Given the description of an element on the screen output the (x, y) to click on. 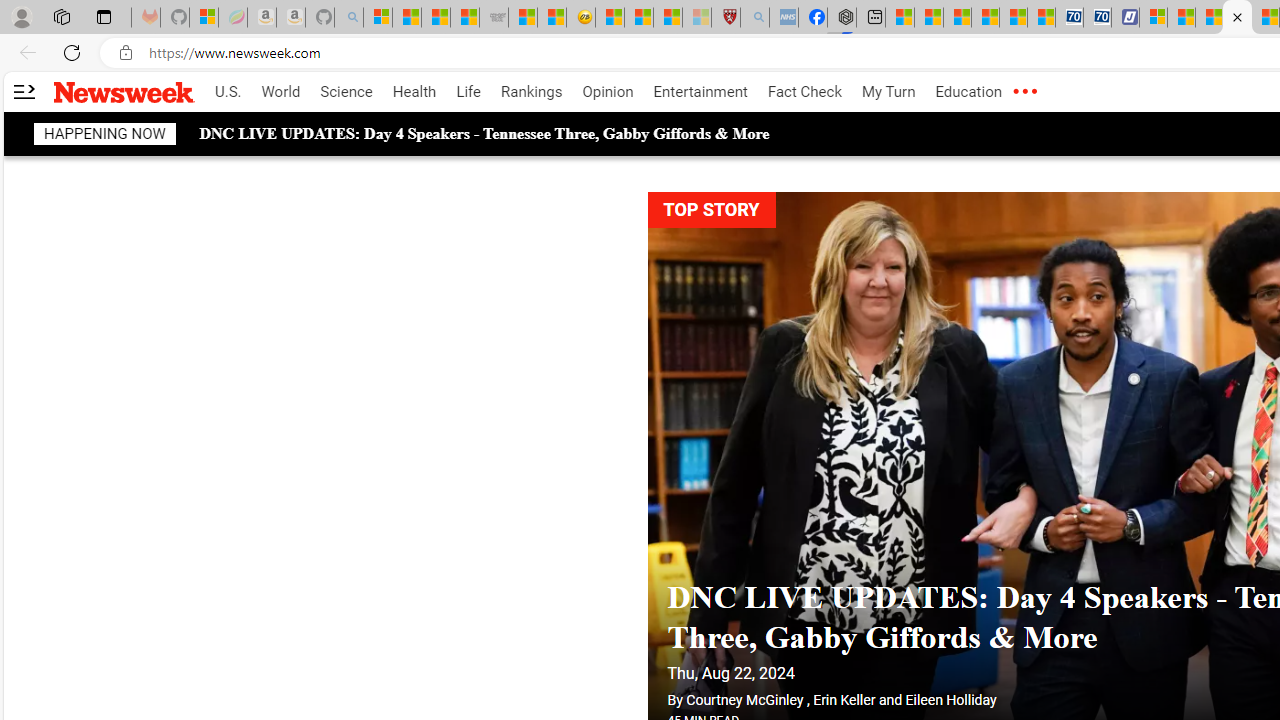
Opinion (607, 92)
Microsoft account | Privacy (1153, 17)
Newsweek logo (123, 91)
Life (468, 92)
Fact Check (804, 92)
My Turn (888, 92)
Recipes - MSN (610, 17)
U.S. (228, 92)
U.S. (228, 92)
Life (468, 92)
